Given the description of an element on the screen output the (x, y) to click on. 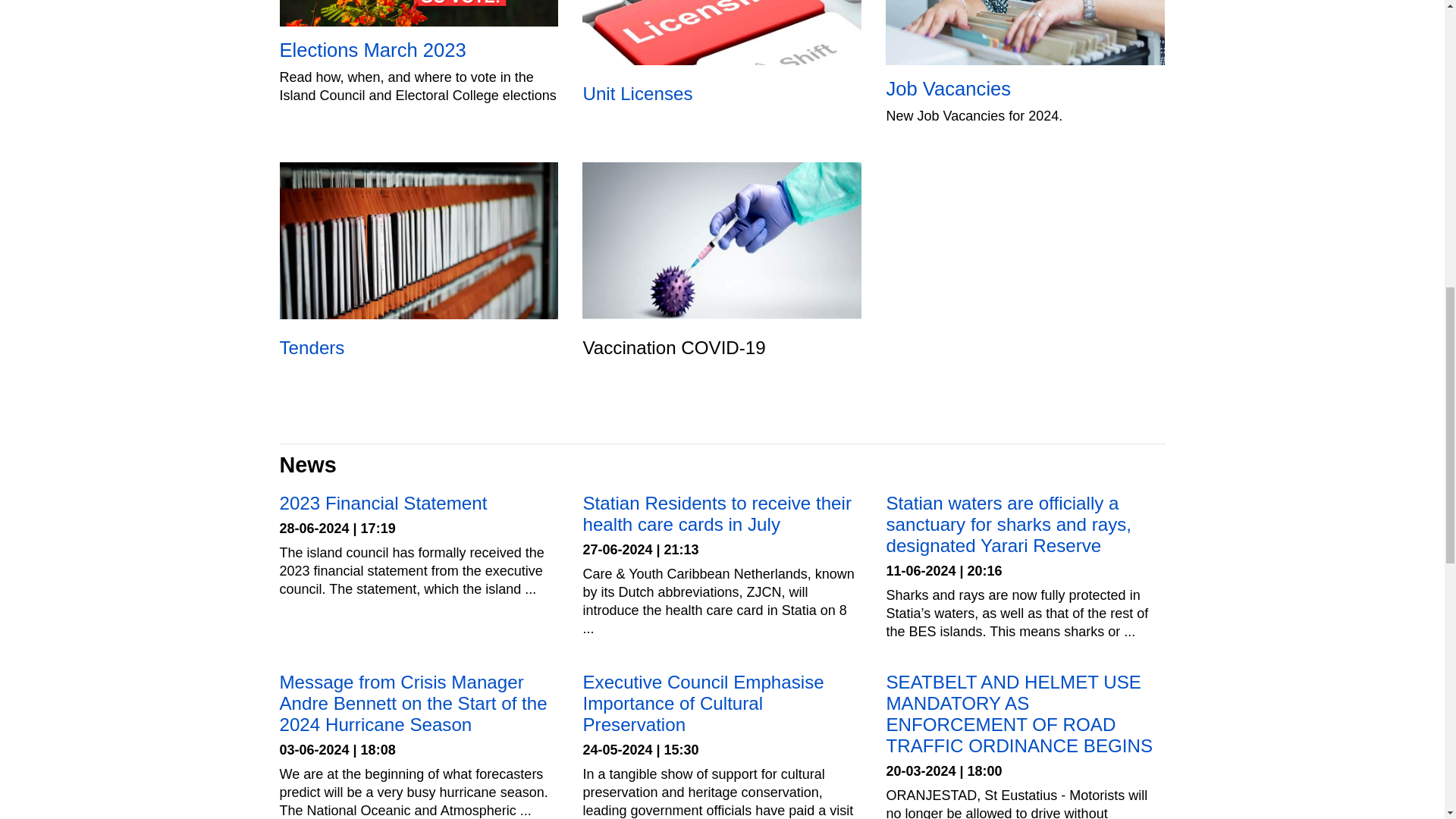
Tenders (418, 266)
Unit Licenses (721, 58)
